Given the description of an element on the screen output the (x, y) to click on. 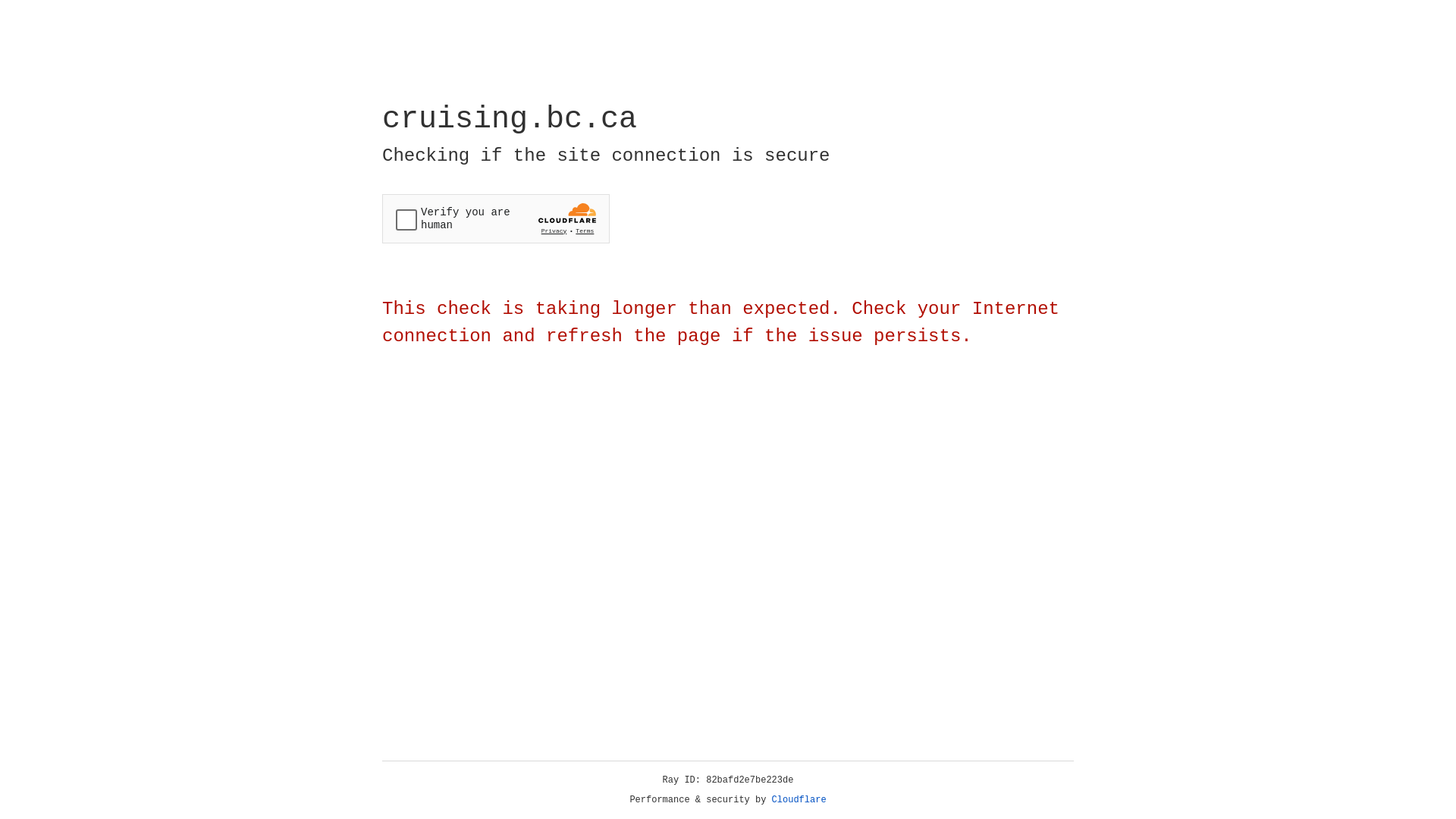
Widget containing a Cloudflare security challenge Element type: hover (495, 218)
Cloudflare Element type: text (798, 799)
